Given the description of an element on the screen output the (x, y) to click on. 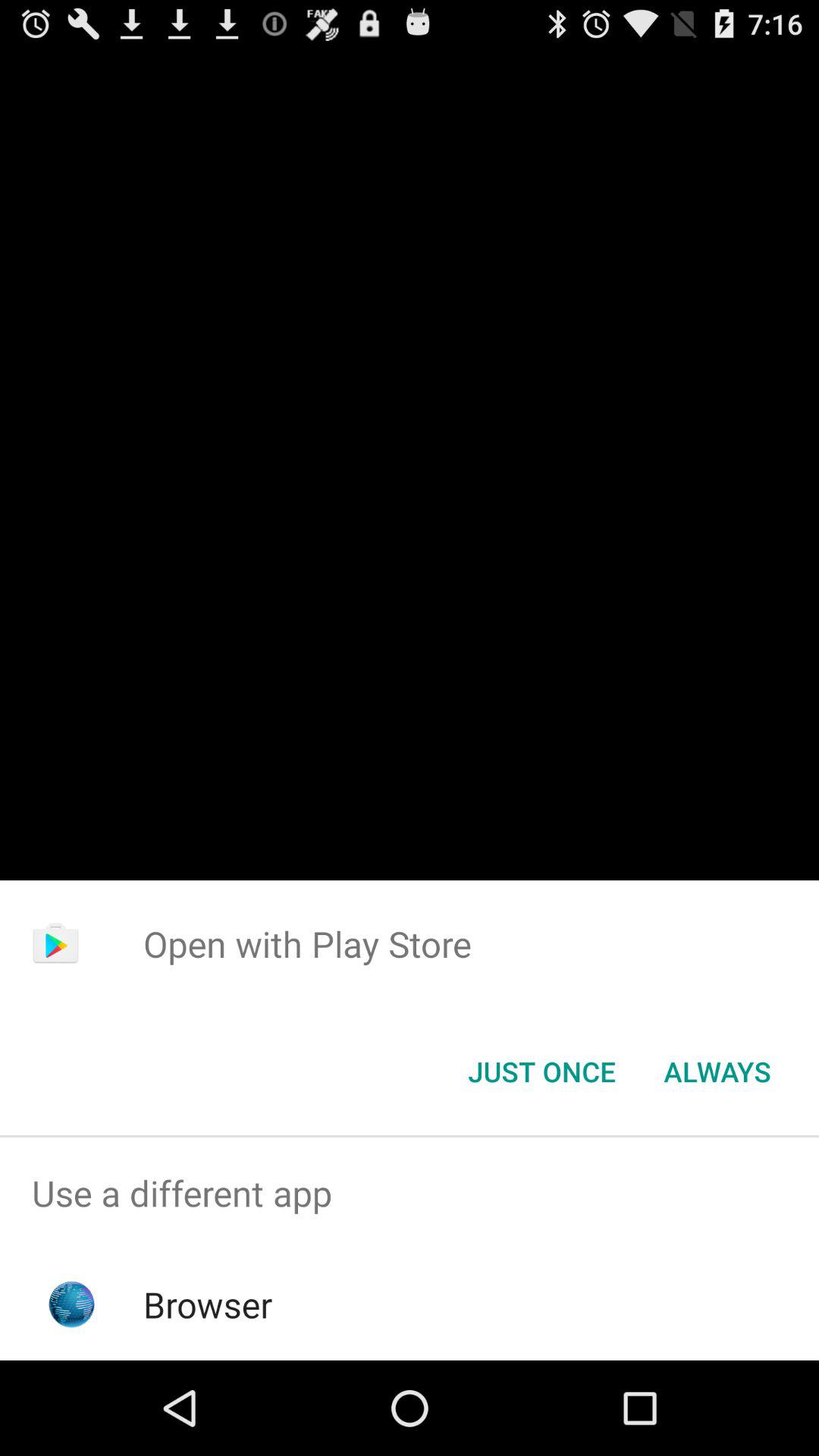
jump to the always button (717, 1071)
